Given the description of an element on the screen output the (x, y) to click on. 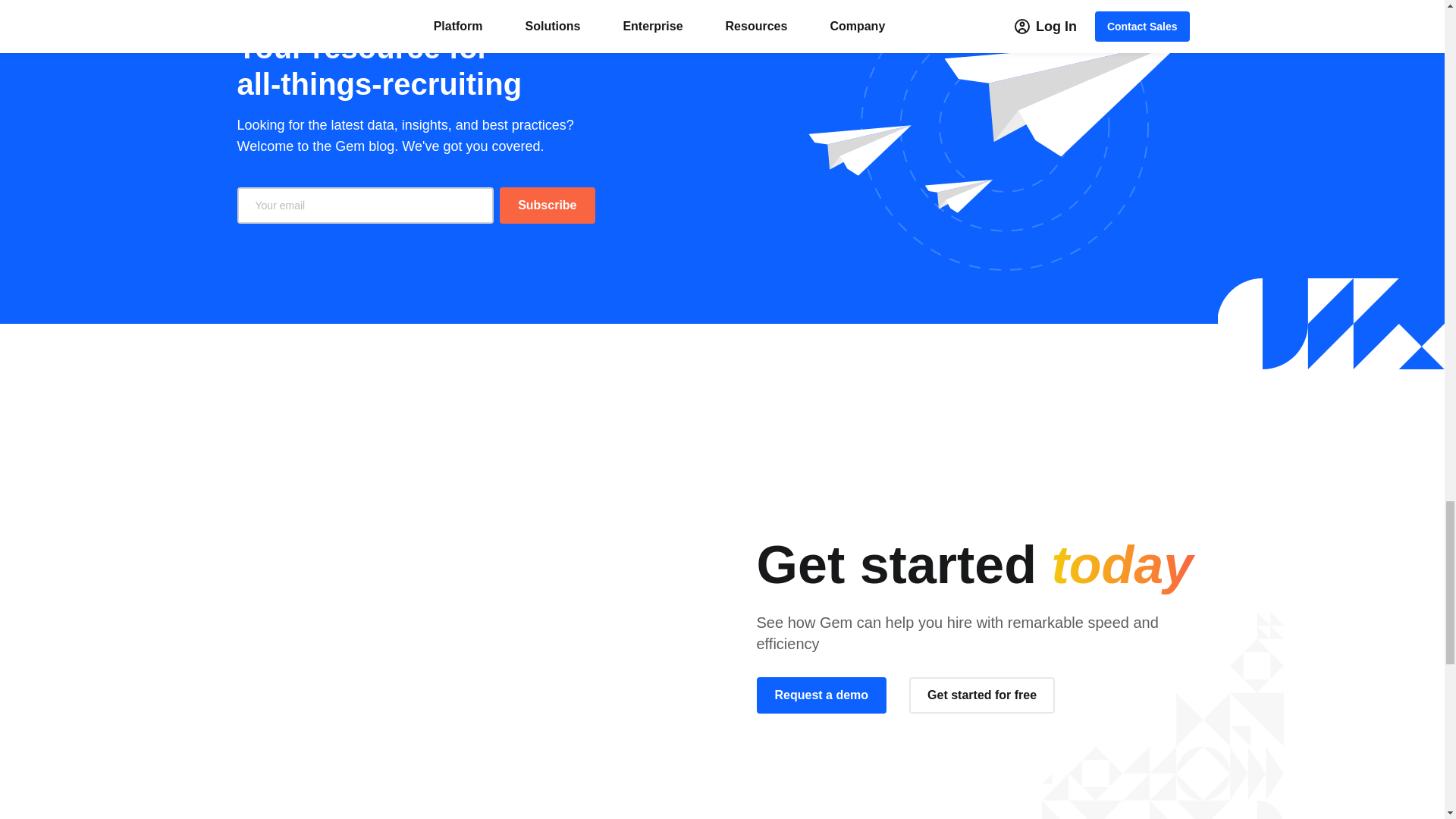
Subscribe (546, 205)
Get started for free (981, 695)
Request a demo (821, 695)
